Given the description of an element on the screen output the (x, y) to click on. 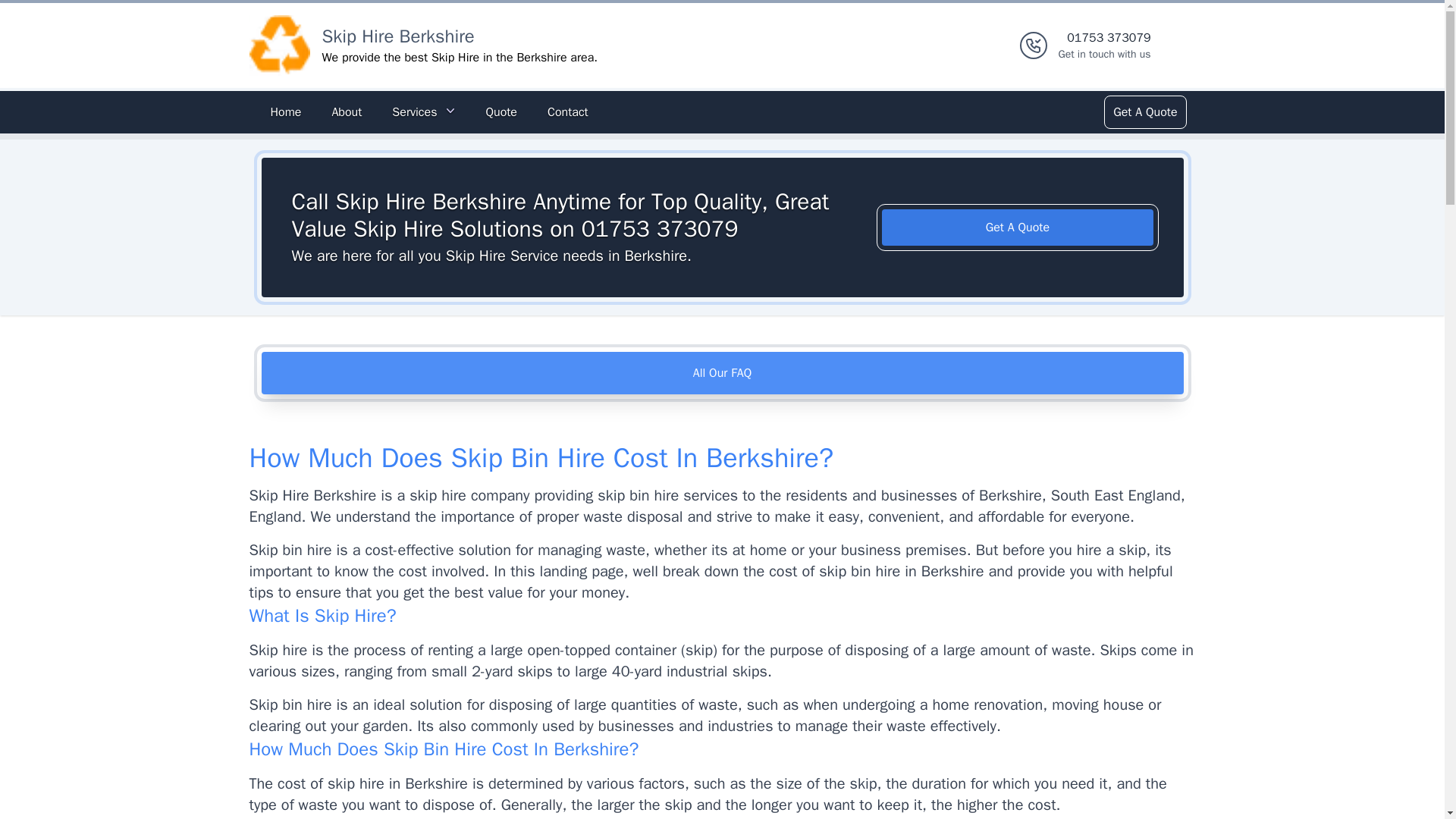
All Our FAQ (721, 372)
Skip Hire Berkshire (397, 36)
Home (285, 112)
About (346, 112)
Contact (567, 112)
Services (423, 112)
Get A Quote (1104, 45)
Quote (1017, 227)
Get A Quote (500, 112)
Logo (1144, 112)
